Given the description of an element on the screen output the (x, y) to click on. 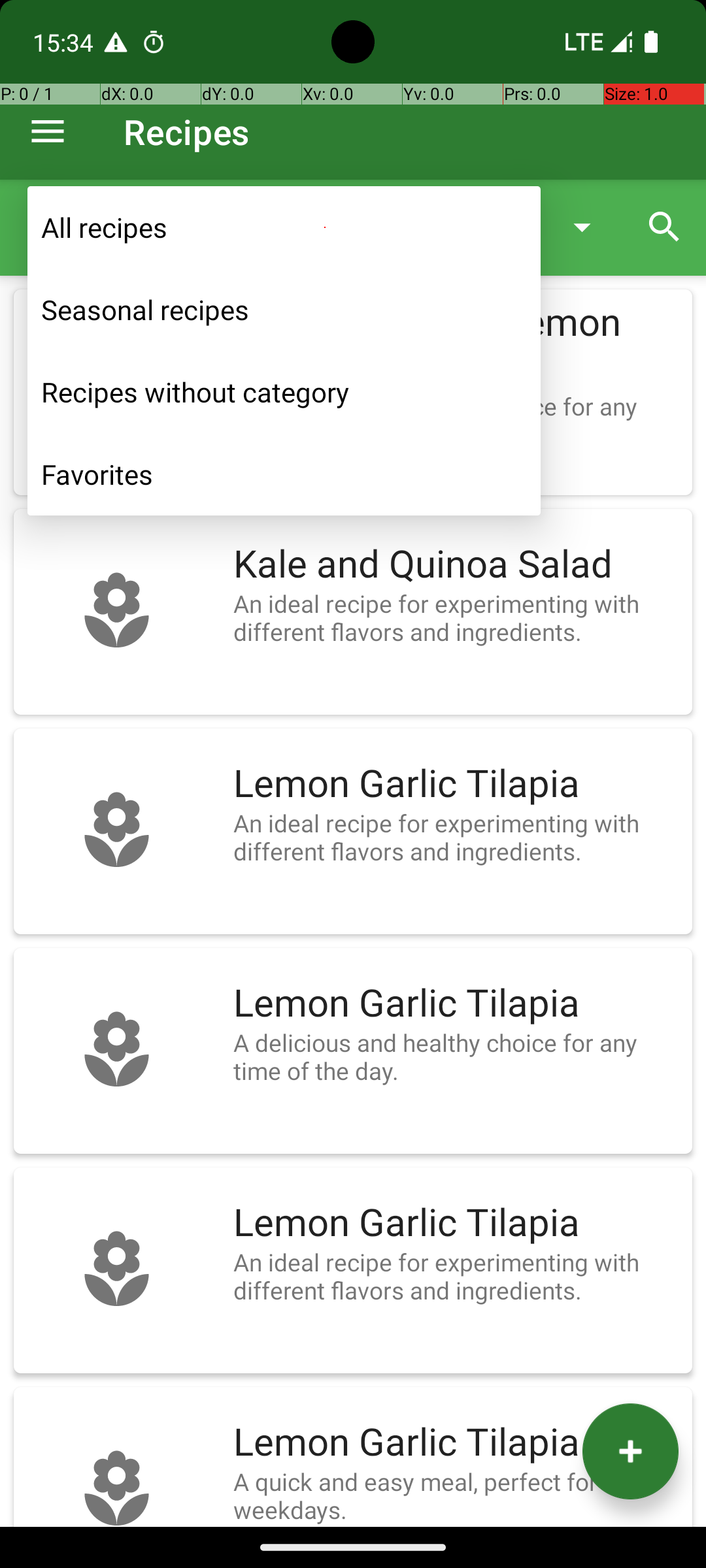
Seasonal recipes Element type: android.widget.CheckedTextView (283, 309)
Recipes without category Element type: android.widget.CheckedTextView (283, 391)
Favorites Element type: android.widget.CheckedTextView (283, 474)
